Given the description of an element on the screen output the (x, y) to click on. 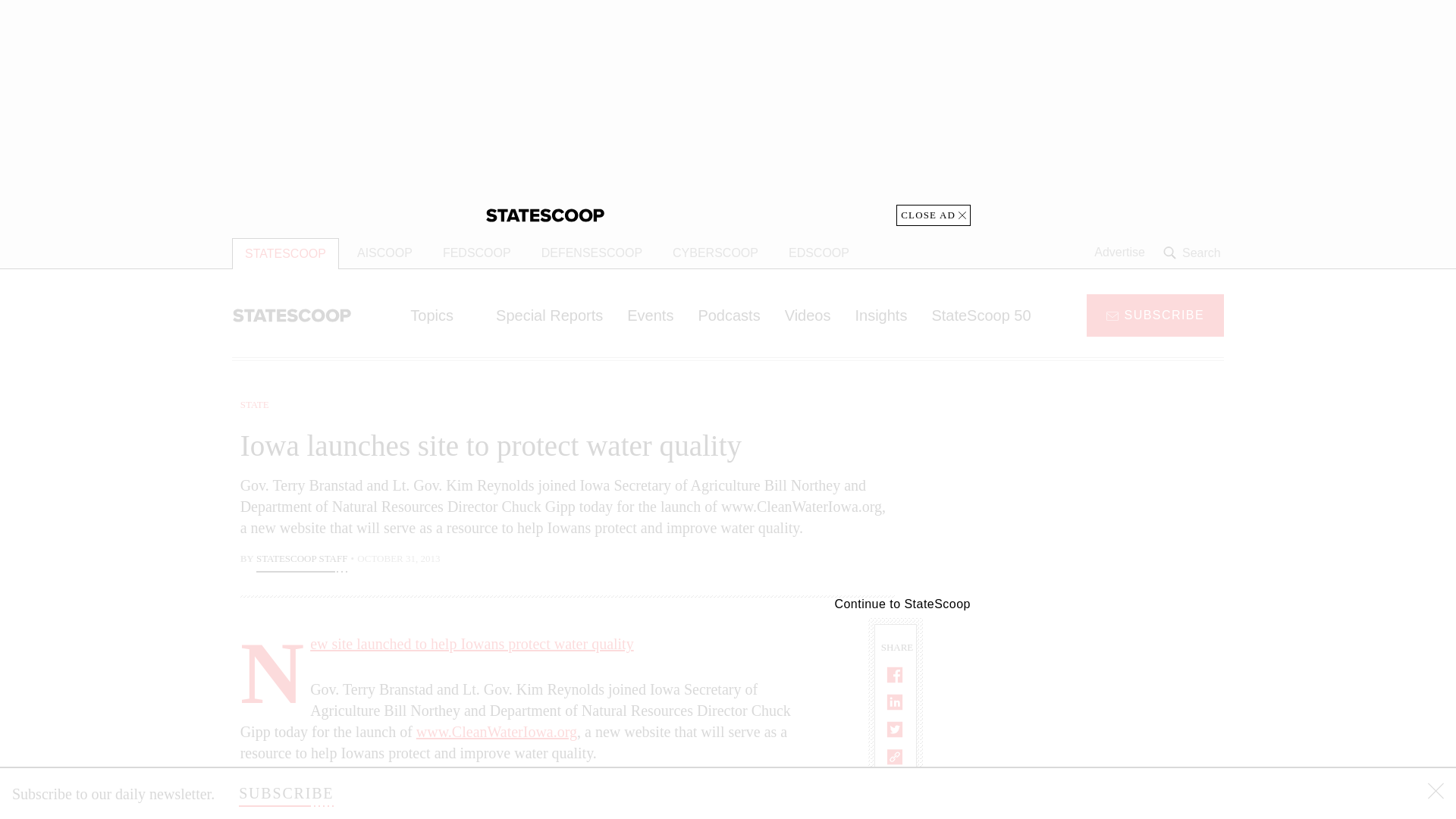
EDSCOOP (818, 253)
3rd party ad content (1101, 492)
Events (649, 315)
Insights (880, 315)
STATESCOOP (285, 253)
StateScoop Staff (301, 559)
DEFENSESCOOP (591, 253)
Topics (440, 315)
